Given the description of an element on the screen output the (x, y) to click on. 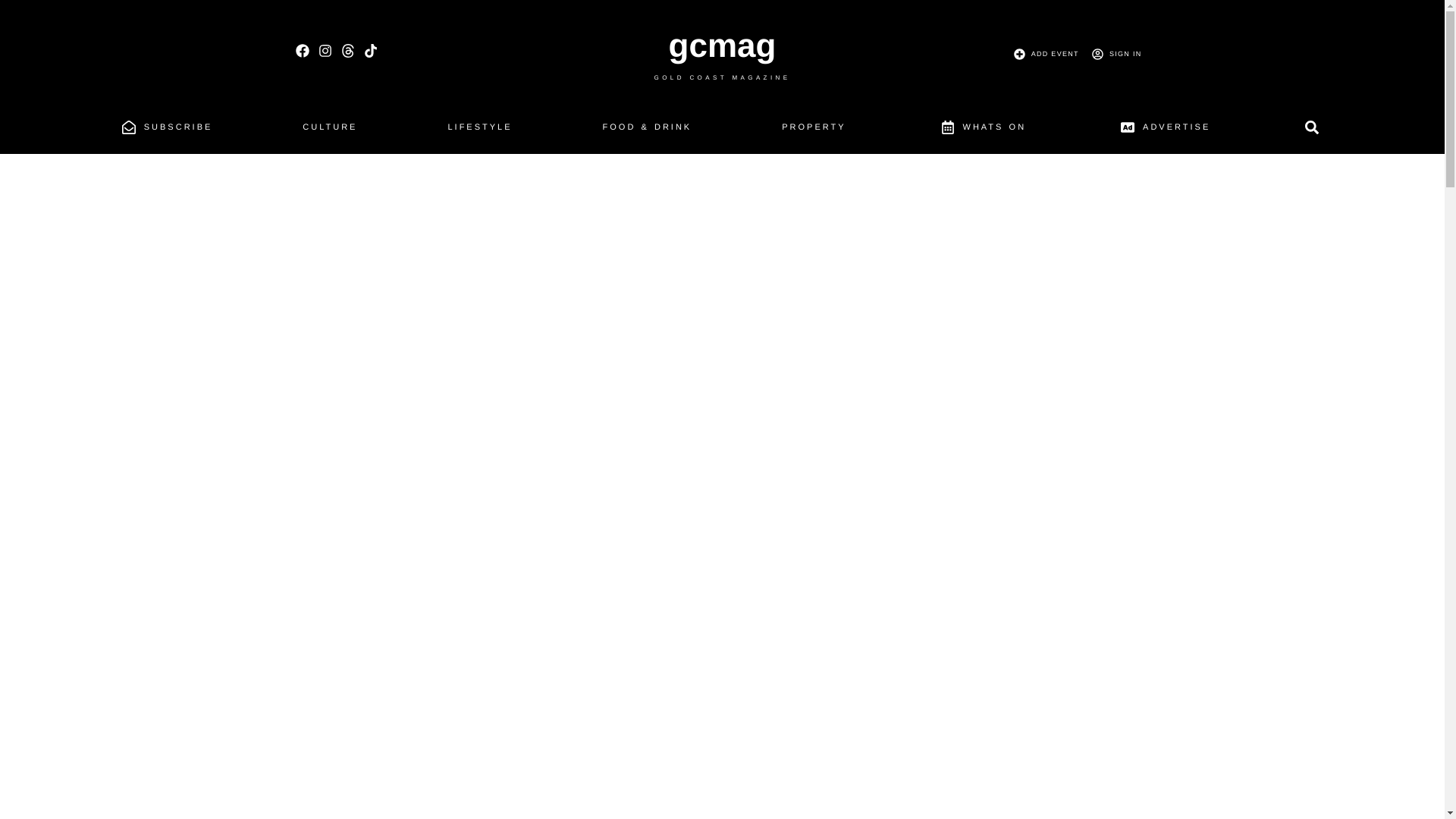
ADD EVENT (1043, 53)
WHATS ON (981, 131)
gcmag (722, 45)
SUBSCRIBE (164, 131)
LIFESTYLE (479, 130)
PROPERTY (813, 130)
SIGN IN (1113, 53)
CULTURE (329, 130)
ADVERTISE (1162, 131)
